Given the description of an element on the screen output the (x, y) to click on. 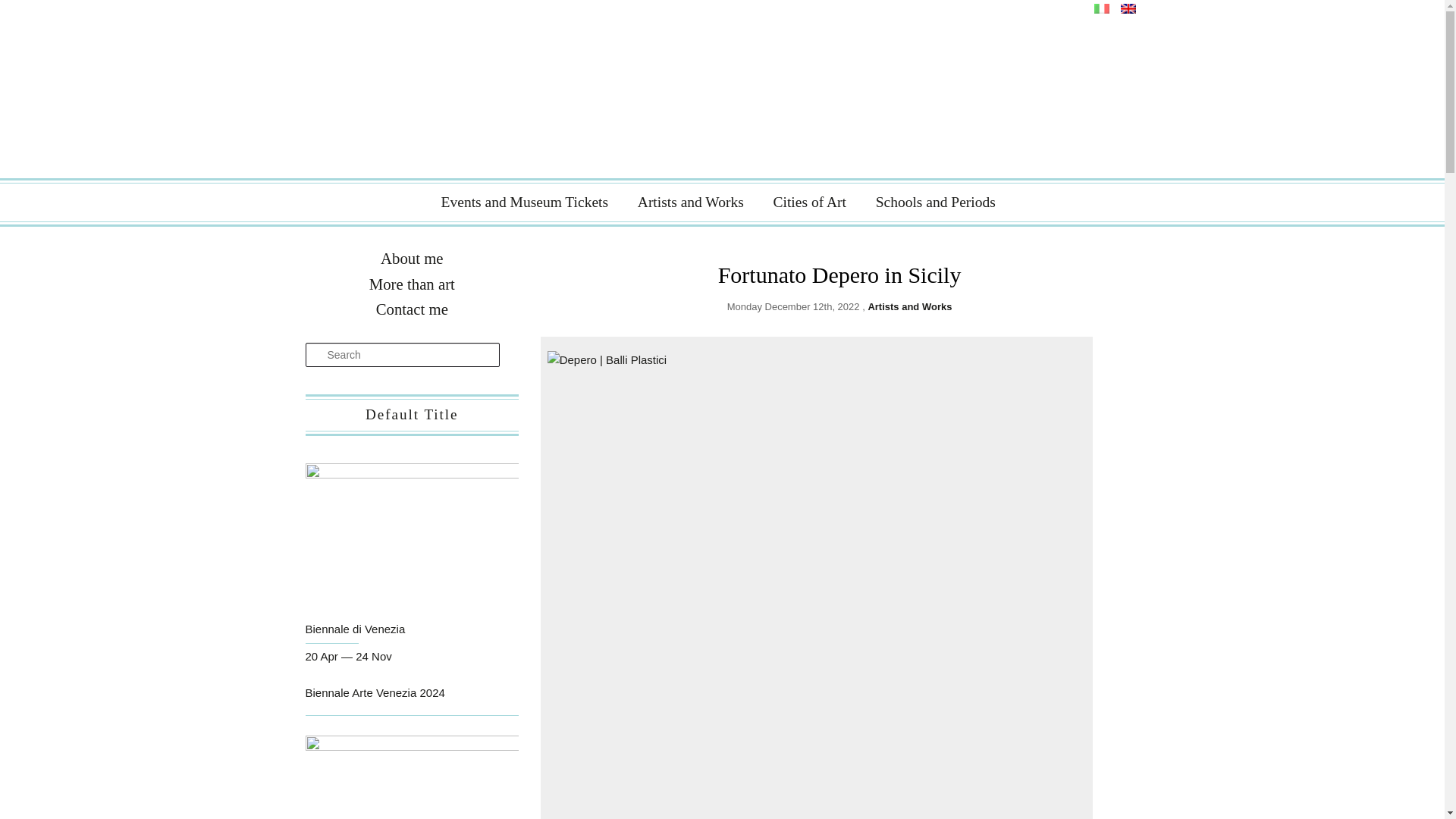
Artists and Works (909, 306)
Schools and Periods (935, 202)
Cities of Art (810, 202)
Contact me (411, 308)
More than art (411, 283)
Search (16, 10)
Events and Museum Tickets (524, 202)
Artists and Works (690, 202)
Biennale Arte Venezia 2024 (374, 692)
About me (412, 257)
